Given the description of an element on the screen output the (x, y) to click on. 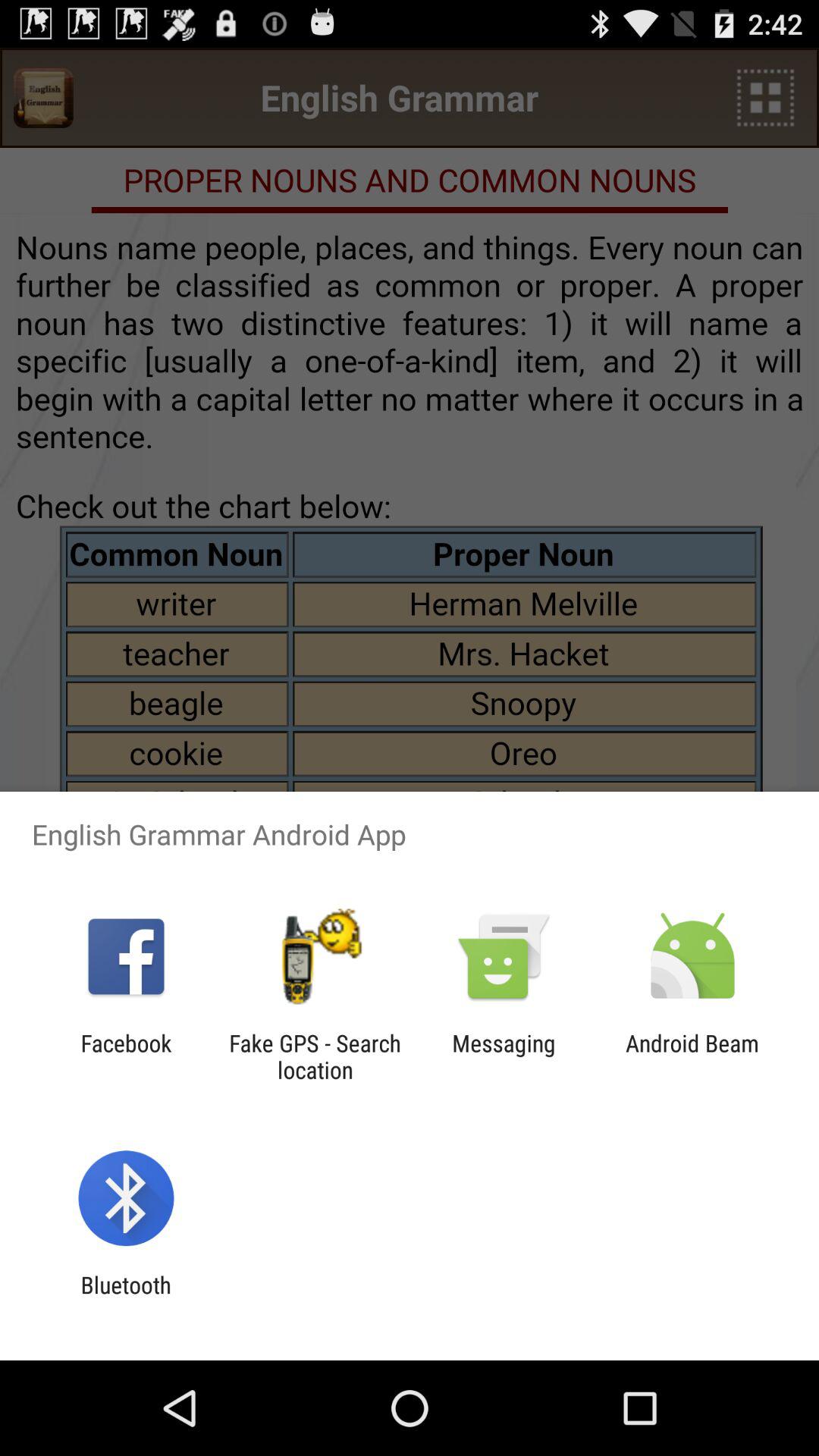
jump until bluetooth icon (125, 1298)
